Given the description of an element on the screen output the (x, y) to click on. 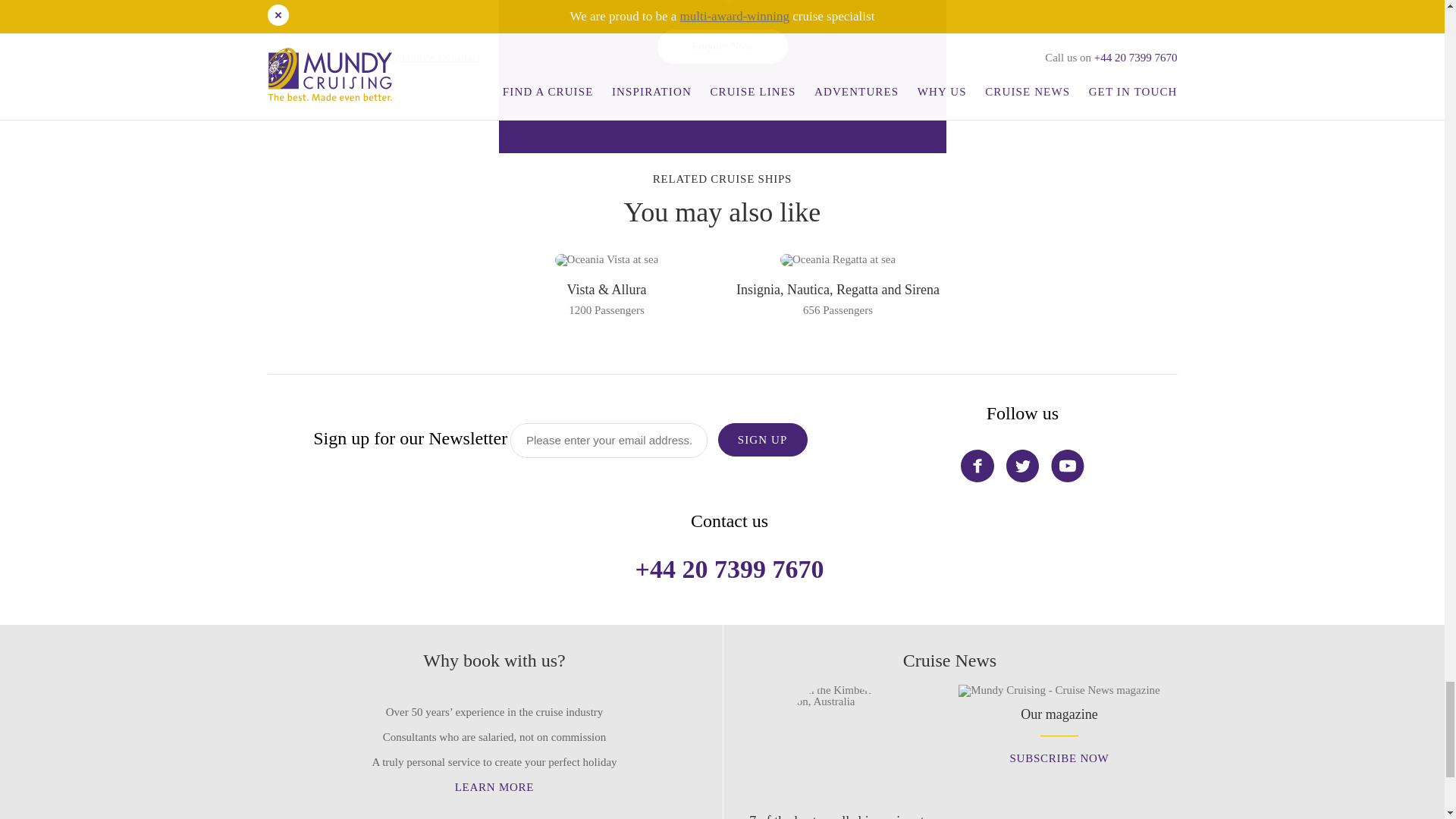
Enquire Now (721, 46)
LEARN MORE (844, 298)
SIGN UP (840, 805)
